Given the description of an element on the screen output the (x, y) to click on. 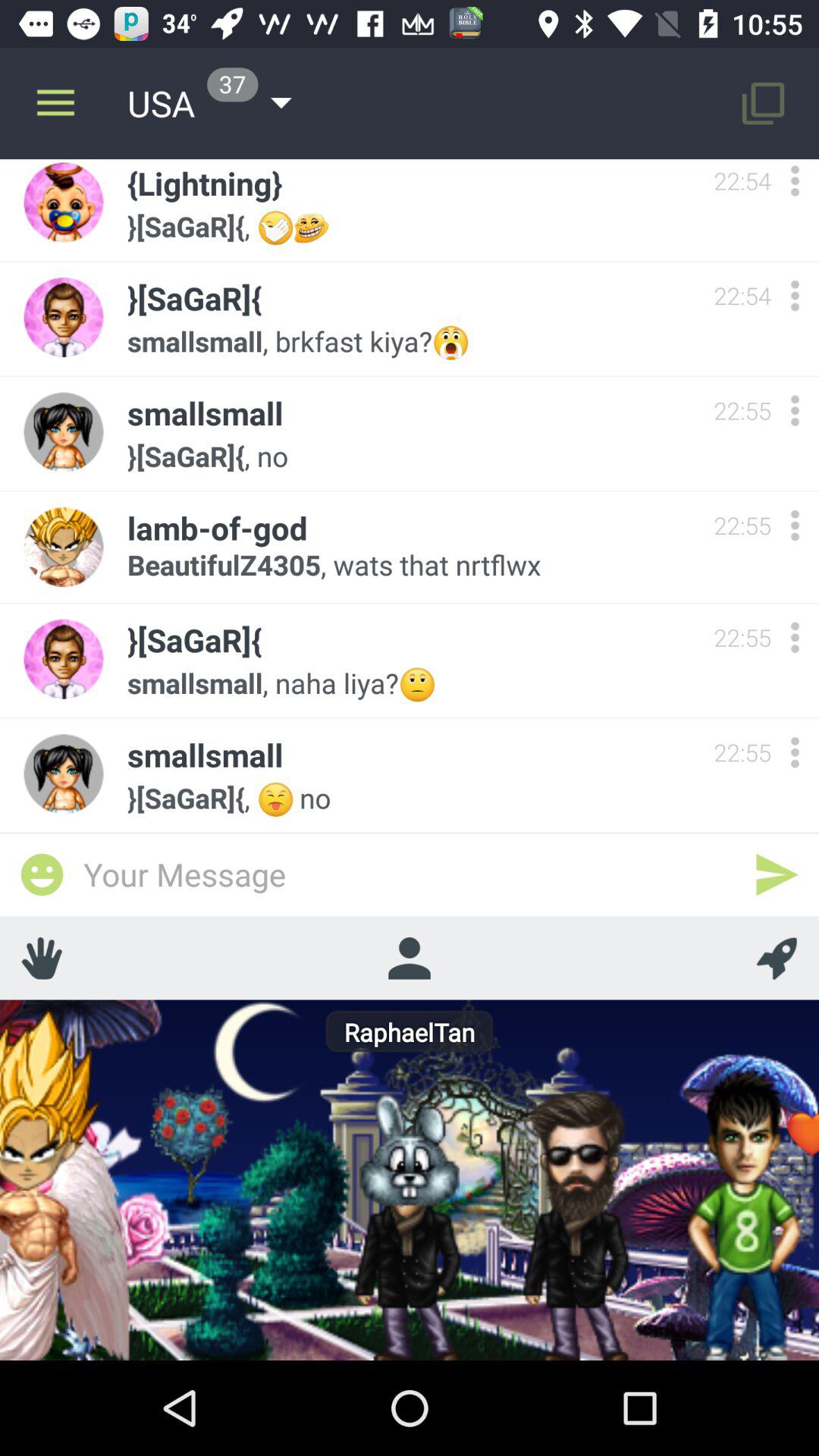
more options (795, 525)
